Given the description of an element on the screen output the (x, y) to click on. 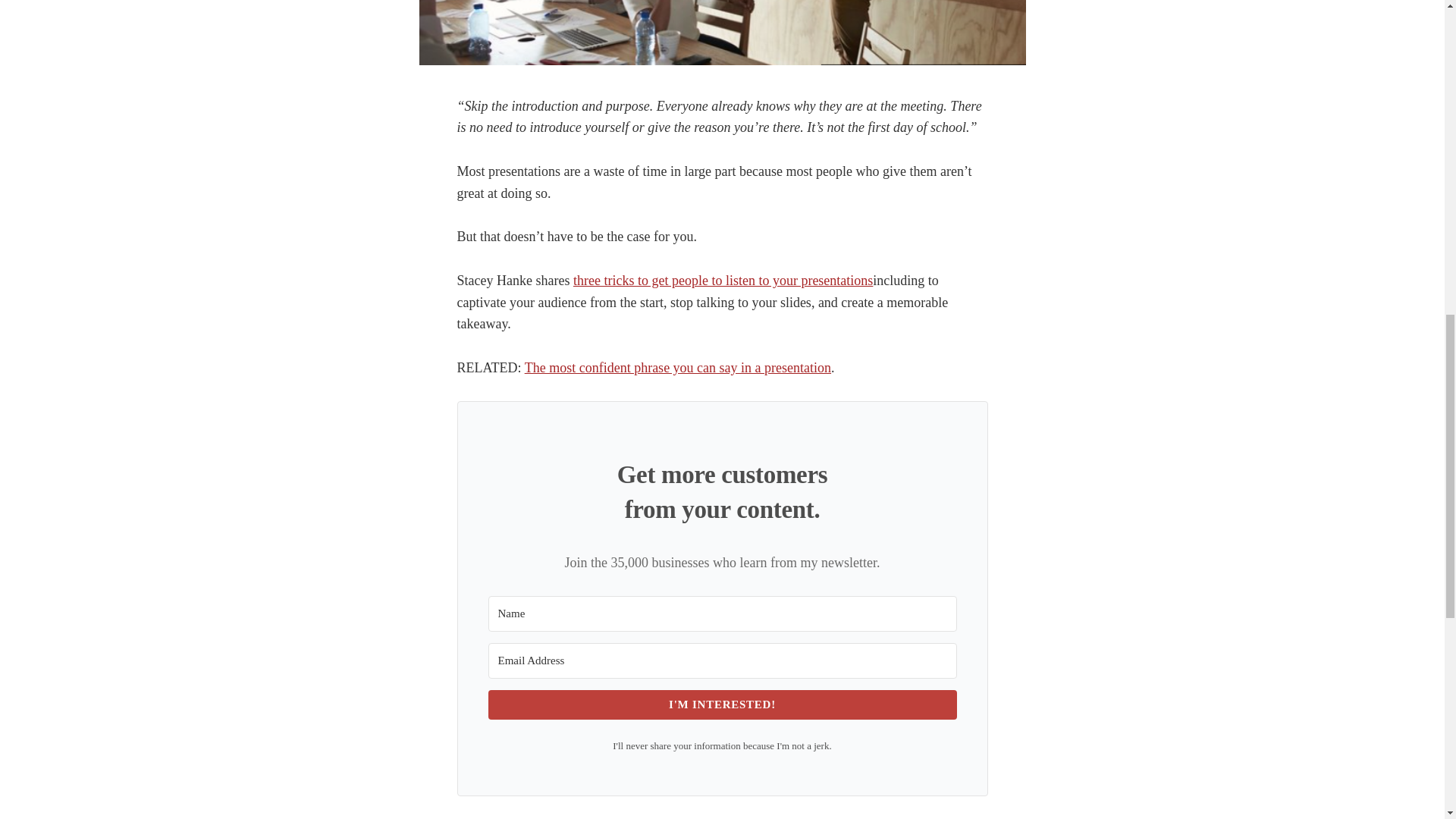
I'M INTERESTED! (721, 704)
The most confident phrase you can say in a presentation (677, 367)
three tricks to get people to listen to your presentations (722, 280)
